Given the description of an element on the screen output the (x, y) to click on. 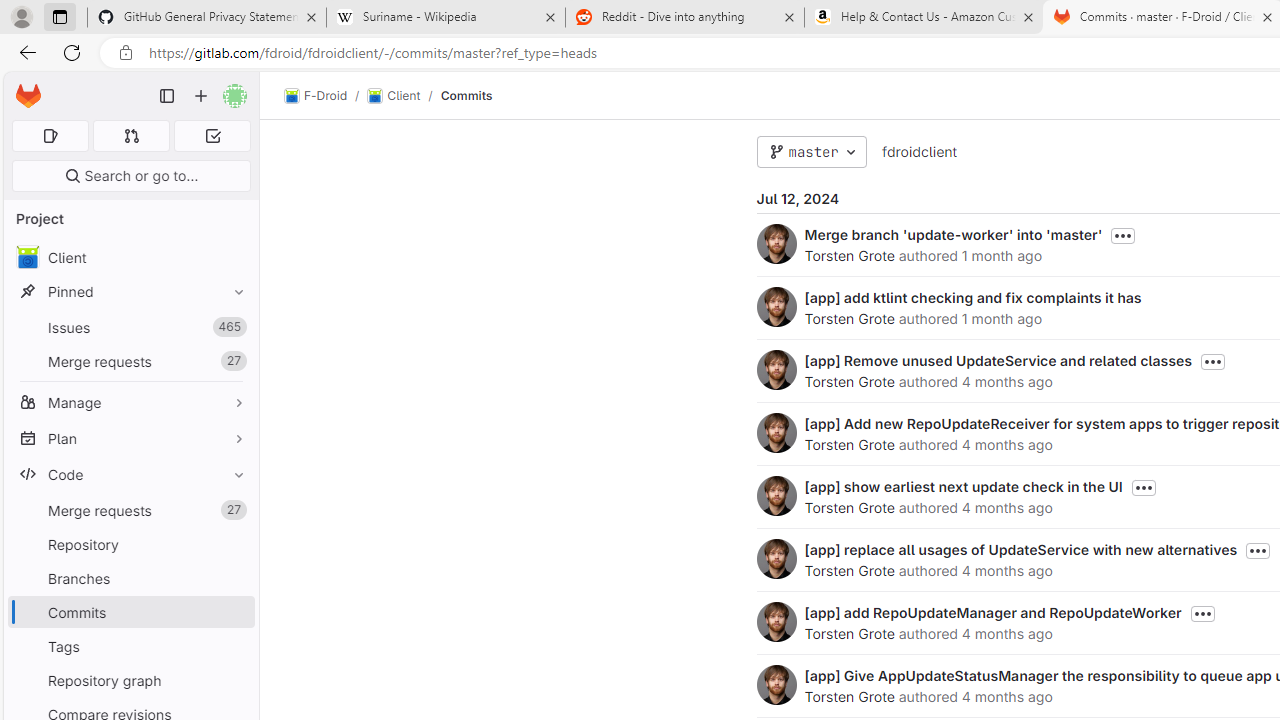
Pinned (130, 291)
Torsten Grote's avatar (776, 684)
Repository graph (130, 679)
Manage (130, 402)
Homepage (27, 96)
fdroidclient (918, 151)
Commits (466, 95)
Commits (466, 95)
Pin Branches (234, 578)
To-Do list 0 (212, 136)
[app] Remove unused UpdateService and related classes (997, 360)
Reddit - Dive into anything (684, 17)
